Given the description of an element on the screen output the (x, y) to click on. 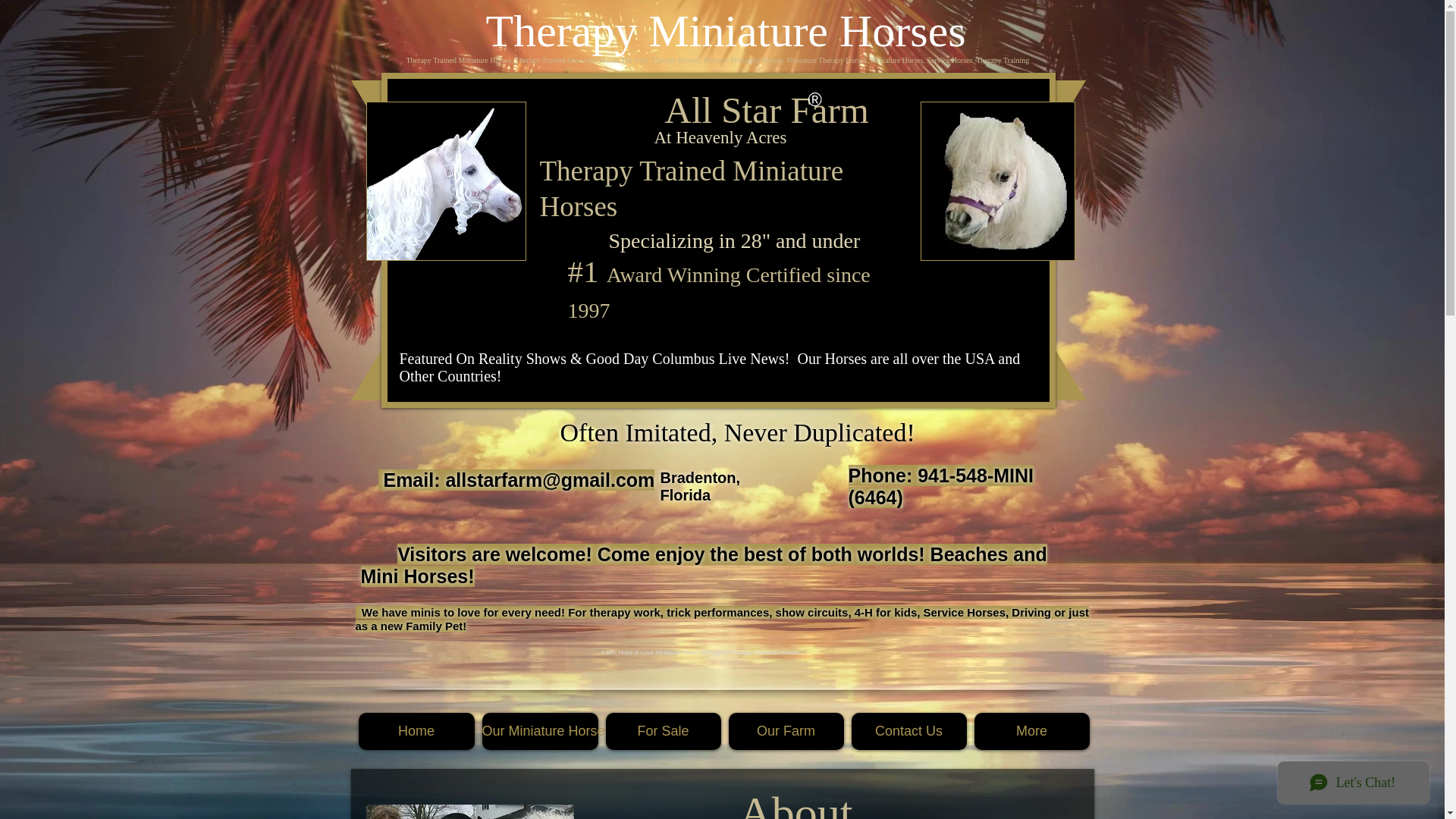
Contact Us (908, 731)
For Sale (662, 731)
Home (416, 731)
Our Farm (785, 731)
Our Miniature Horses (539, 731)
